Given the description of an element on the screen output the (x, y) to click on. 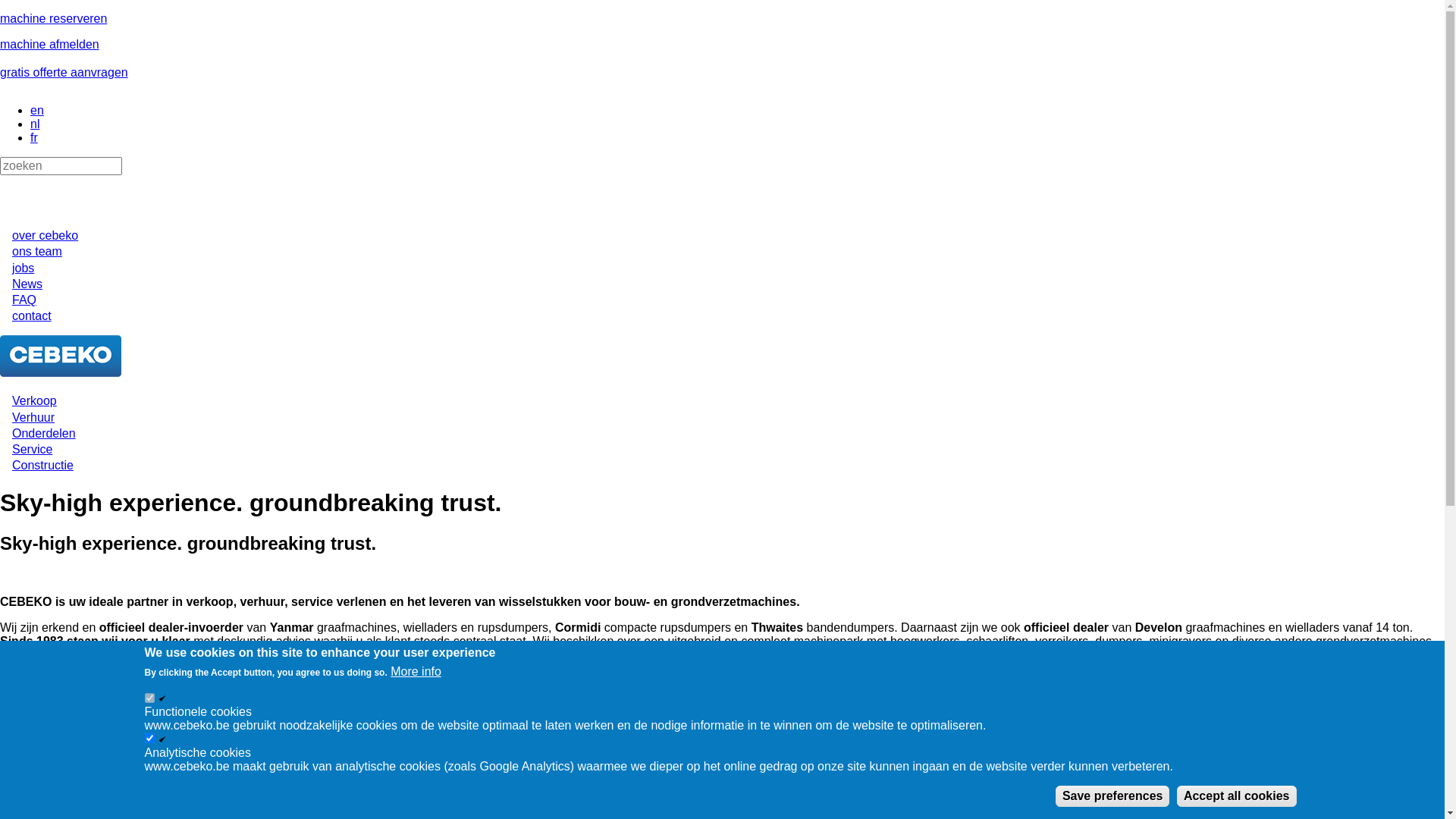
ons team Element type: text (37, 250)
FAQ Element type: text (24, 299)
Save preferences Element type: text (1112, 795)
fr Element type: text (33, 137)
nl Element type: text (34, 123)
Withdraw consent Element type: text (1358, 789)
jobs Element type: text (23, 267)
Skip to main content Element type: text (0, 12)
Service Element type: text (32, 448)
News Element type: text (27, 283)
en Element type: text (36, 109)
Kom hier meer te weten Element type: text (64, 693)
Verkoop Element type: text (34, 400)
More info Element type: text (415, 671)
over cebeko Element type: text (45, 235)
machine afmelden Element type: text (49, 43)
Geef de woorden op waarnaar u wilt zoeken. Element type: hover (61, 165)
Constructie Element type: text (42, 464)
gratis offerte aanvragen Element type: text (64, 71)
Accept all cookies Element type: text (1236, 795)
contact Element type: text (31, 315)
Onderdelen Element type: text (43, 432)
Verhuur Element type: text (33, 417)
machine reserveren Element type: text (53, 18)
